Given the description of an element on the screen output the (x, y) to click on. 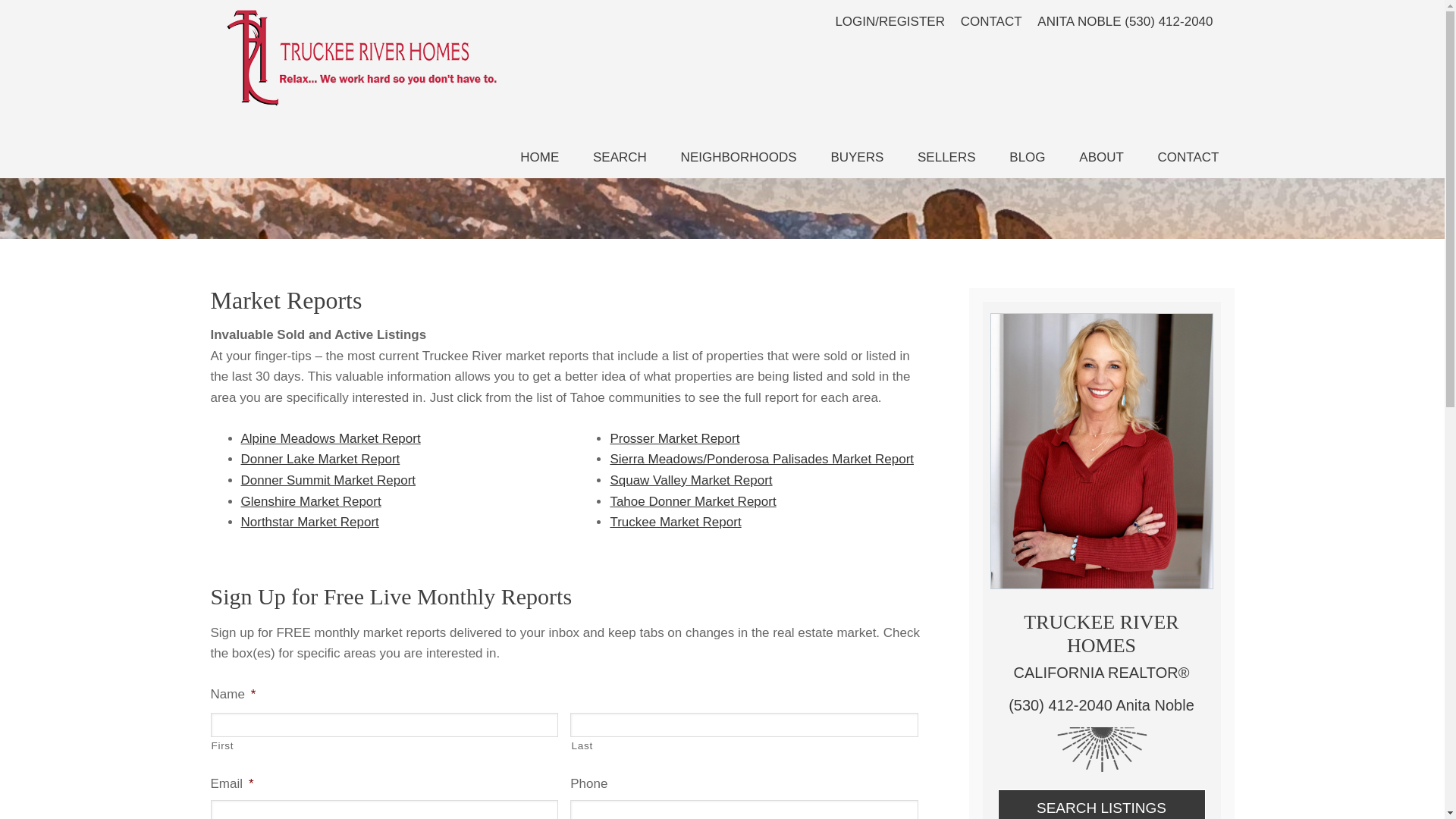
CONTACT (991, 21)
Squaw Valley Market Report (690, 480)
Truckee Market Report (675, 522)
Tahoe Donner Market Report (693, 501)
HOME (539, 157)
Northstar Market Report (309, 522)
Alpine Meadows Market Report (330, 438)
CONTACT (1188, 157)
SELLERS (946, 157)
Donner Lake Market Report (320, 459)
SEARCH (620, 157)
BLOG (1026, 157)
Donner Summit Market Report (328, 480)
Glenshire Market Report (311, 501)
ABOUT (1101, 157)
